Given the description of an element on the screen output the (x, y) to click on. 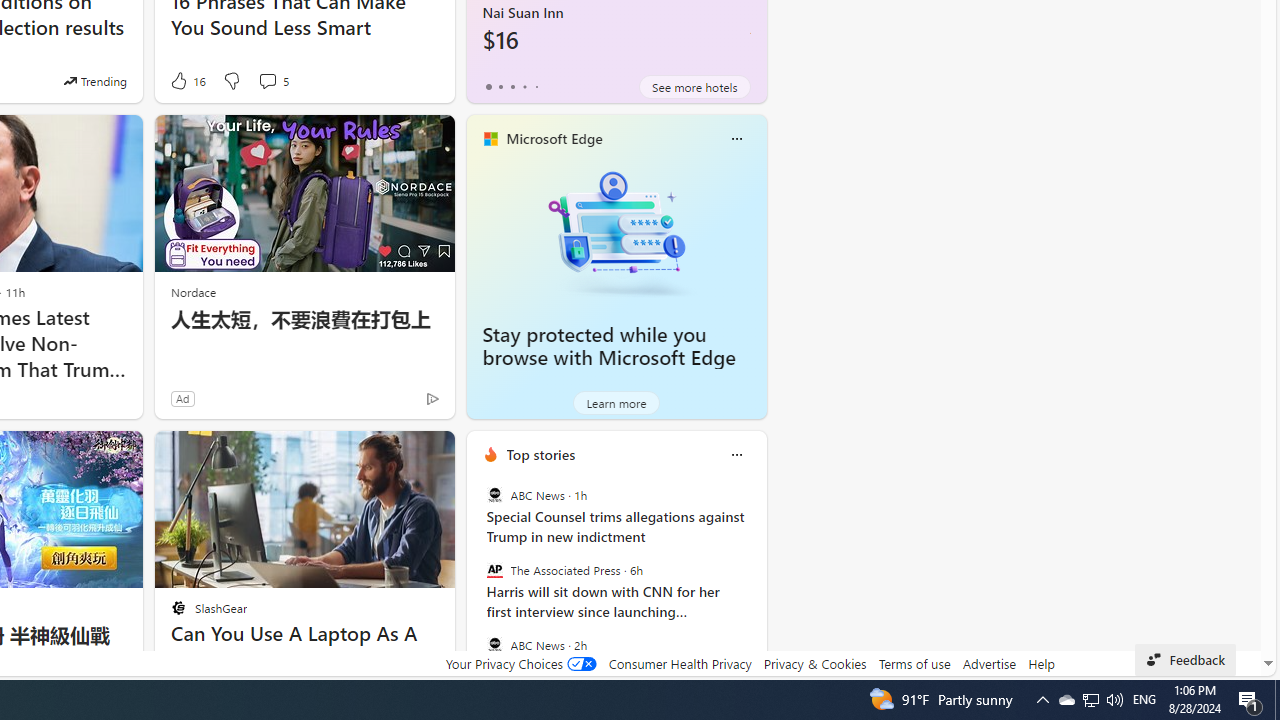
This story is trending (95, 80)
Learn more (616, 402)
Top stories (540, 454)
See more hotels (694, 86)
tab-3 (524, 86)
